Given the description of an element on the screen output the (x, y) to click on. 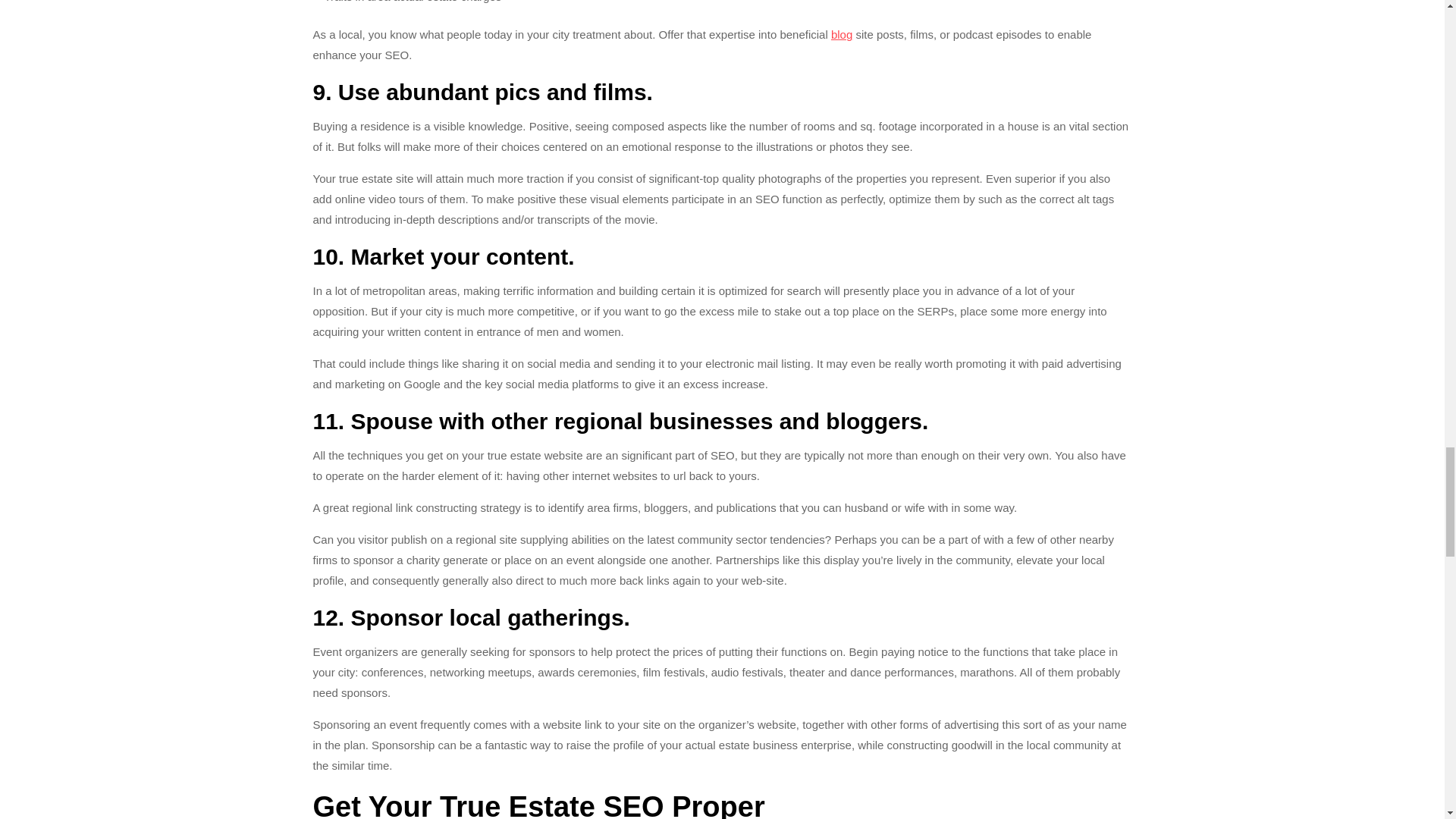
blog (841, 33)
